Given the description of an element on the screen output the (x, y) to click on. 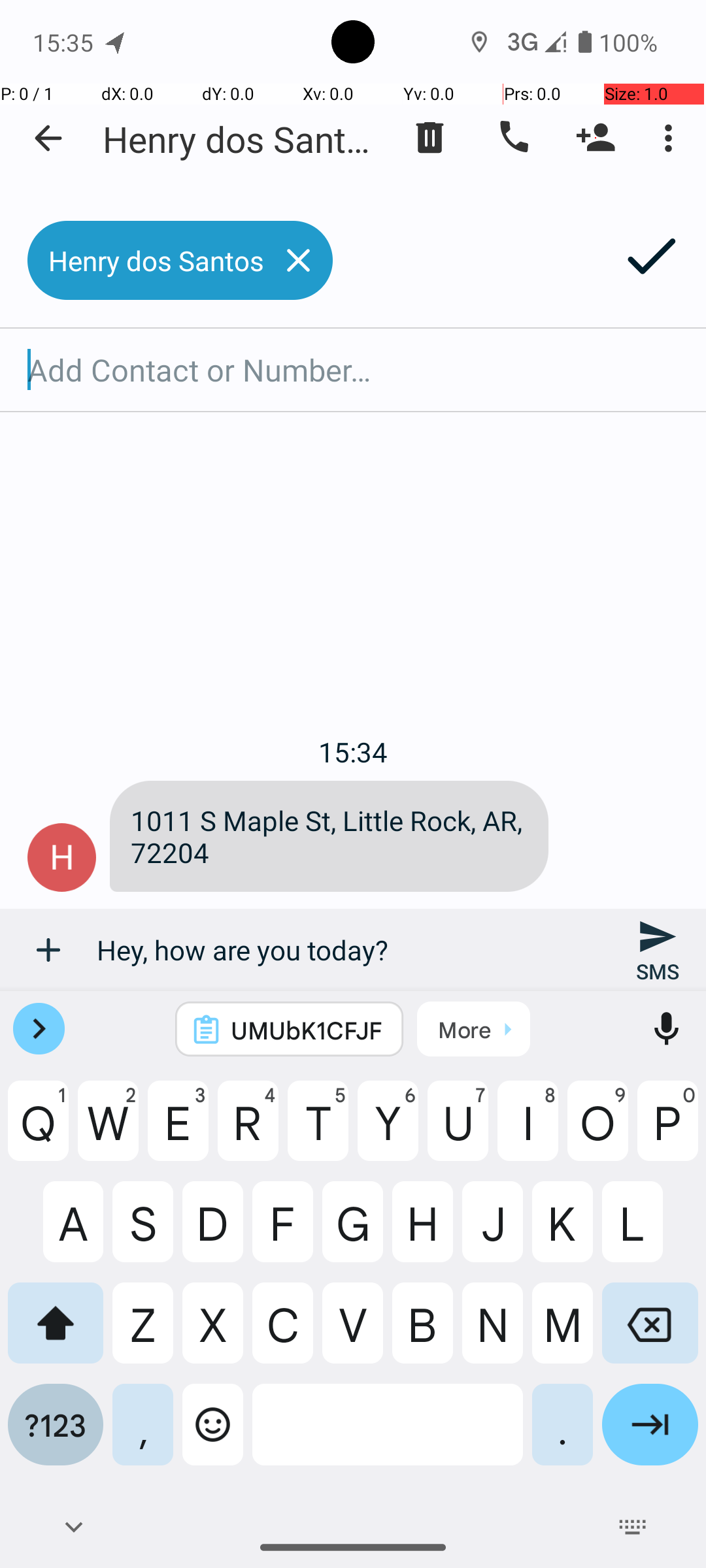
Henry dos Santos Element type: android.widget.TextView (241, 138)
Add Contact or Number… Element type: android.widget.AutoCompleteTextView (352, 369)
Hey, how are you today? Element type: android.widget.EditText (352, 949)
1011 S Maple St, Little Rock, AR, 72204 Element type: android.widget.TextView (328, 835)
